Given the description of an element on the screen output the (x, y) to click on. 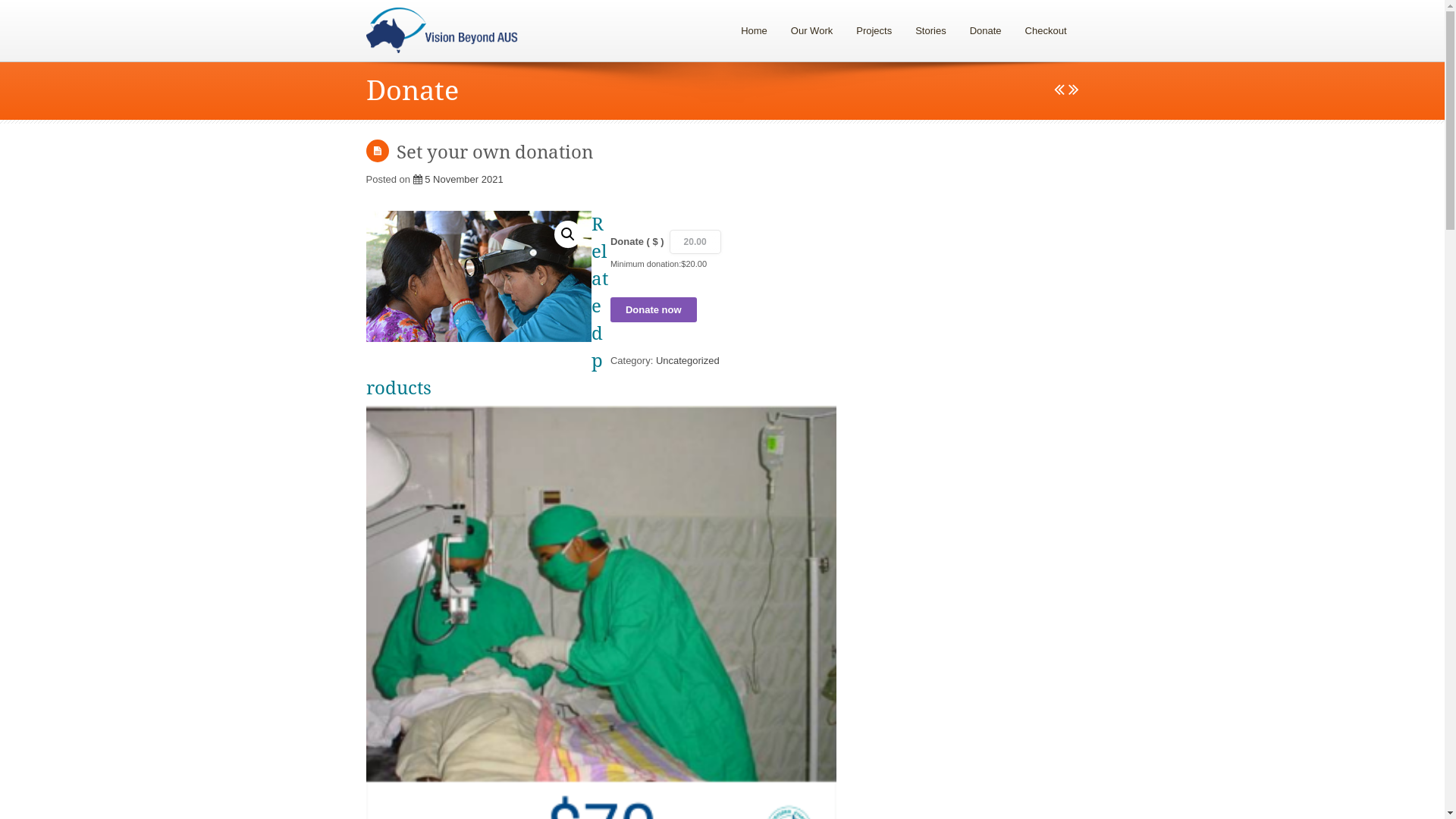
Donate Element type: text (985, 30)
nyp Element type: hover (695, 241)
Donate now Element type: text (653, 309)
Stories Element type: text (930, 30)
Uncategorized Element type: text (687, 360)
5 November 2021 Element type: text (458, 179)
CambodiaSec1 Element type: hover (478, 276)
Checkout Element type: text (1045, 30)
Home Element type: text (753, 30)
